Given the description of an element on the screen output the (x, y) to click on. 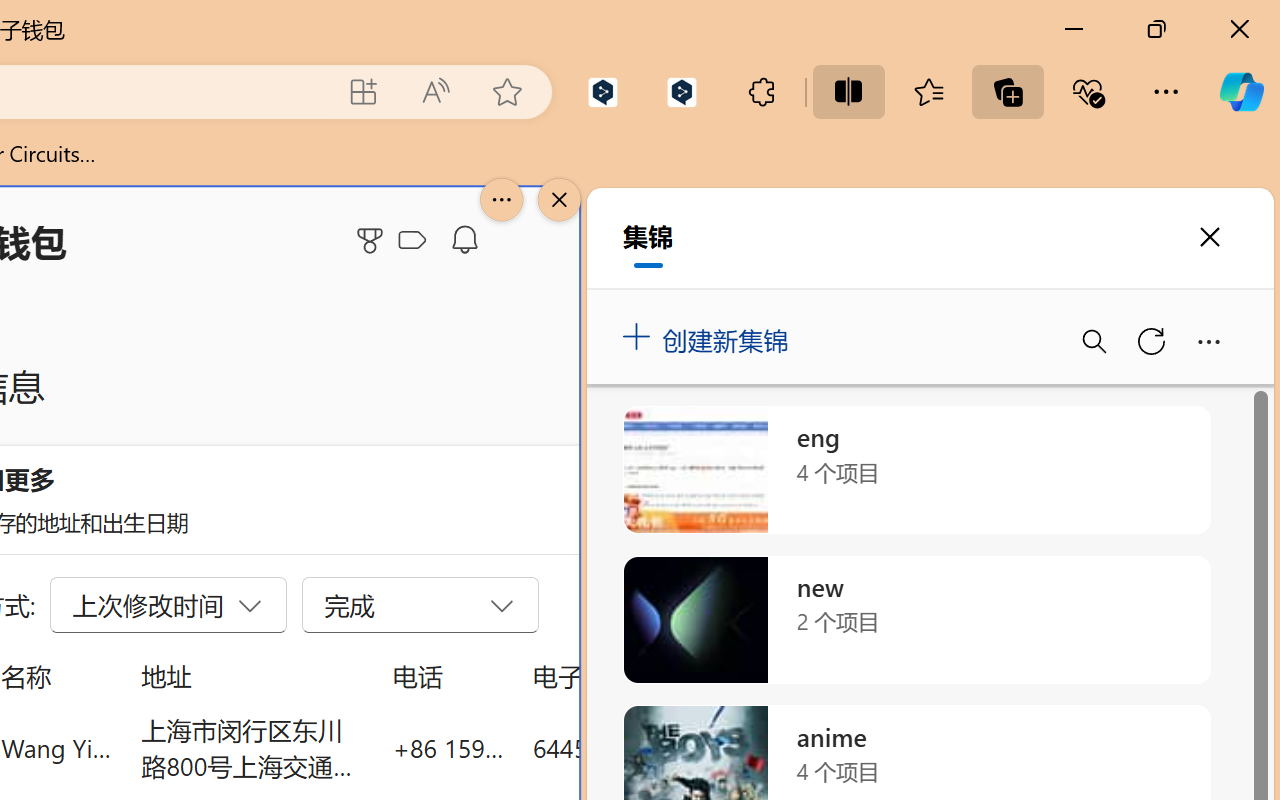
Copilot (Ctrl+Shift+.) (1241, 91)
644553698@qq.com (644, 747)
Class: ___1lmltc5 f1agt3bx f12qytpq (411, 241)
Microsoft Rewards (373, 240)
